Given the description of an element on the screen output the (x, y) to click on. 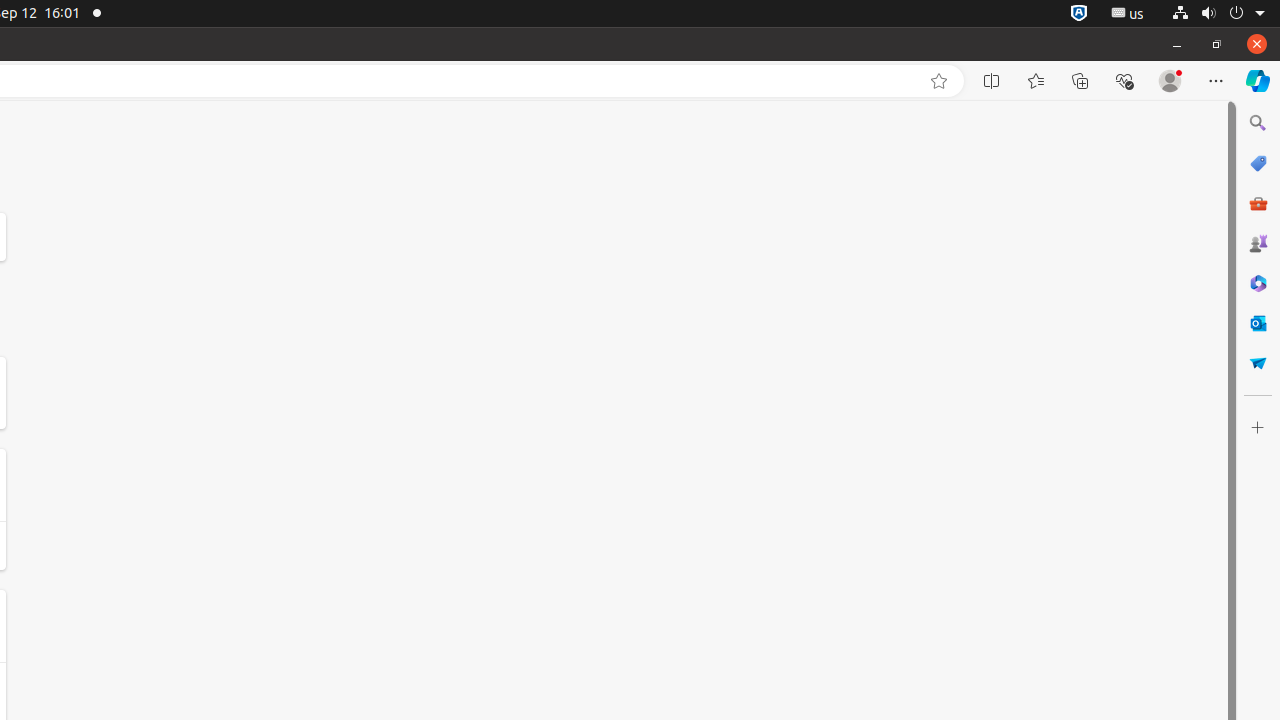
Games Element type: push-button (1258, 243)
Drop Element type: push-button (1258, 363)
:1.72/StatusNotifierItem Element type: menu (1079, 13)
Outlook Element type: push-button (1258, 323)
